Given the description of an element on the screen output the (x, y) to click on. 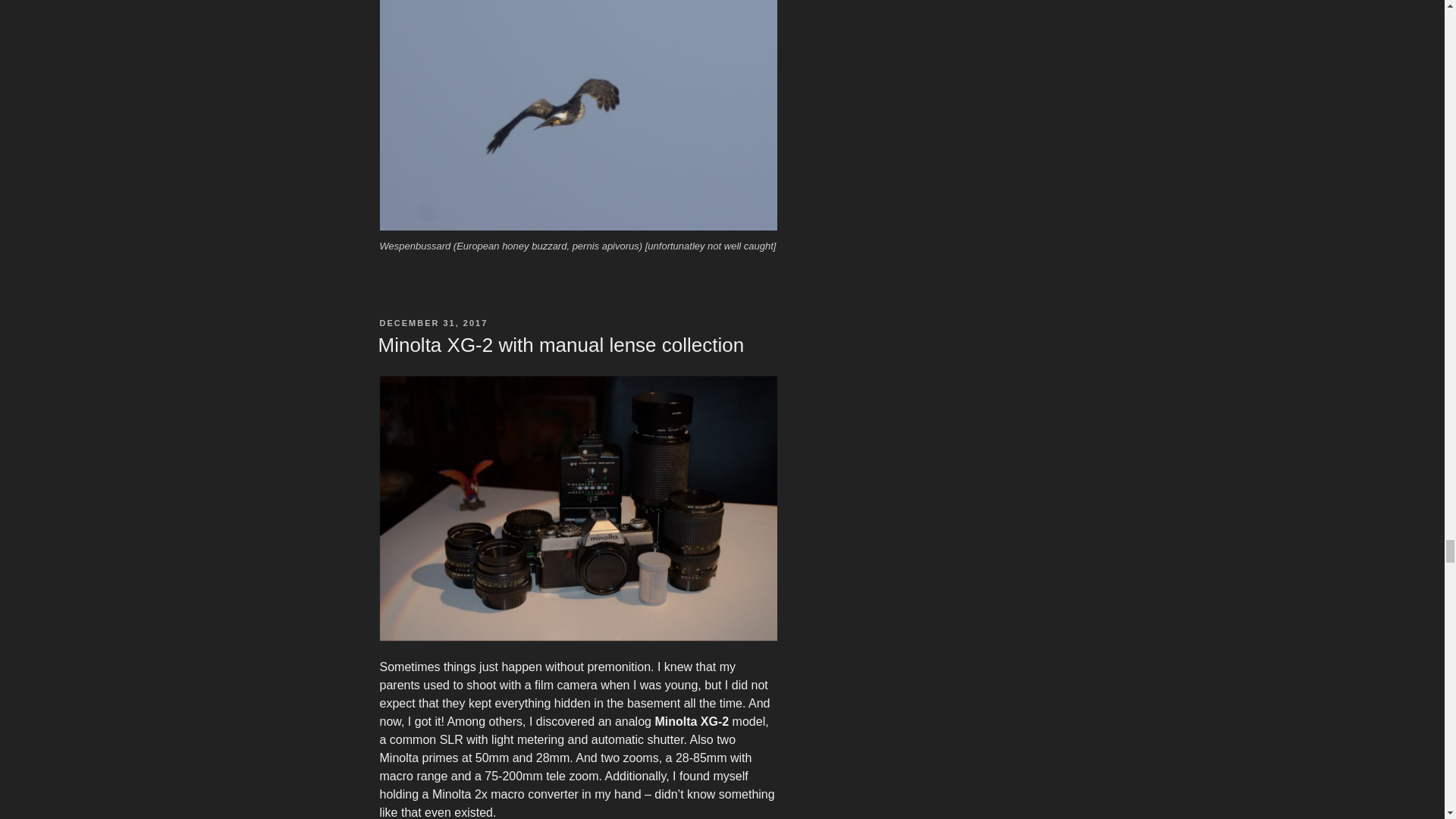
DECEMBER 31, 2017 (432, 322)
Minolta XG-2 with manual lense collection (560, 344)
